Given the description of an element on the screen output the (x, y) to click on. 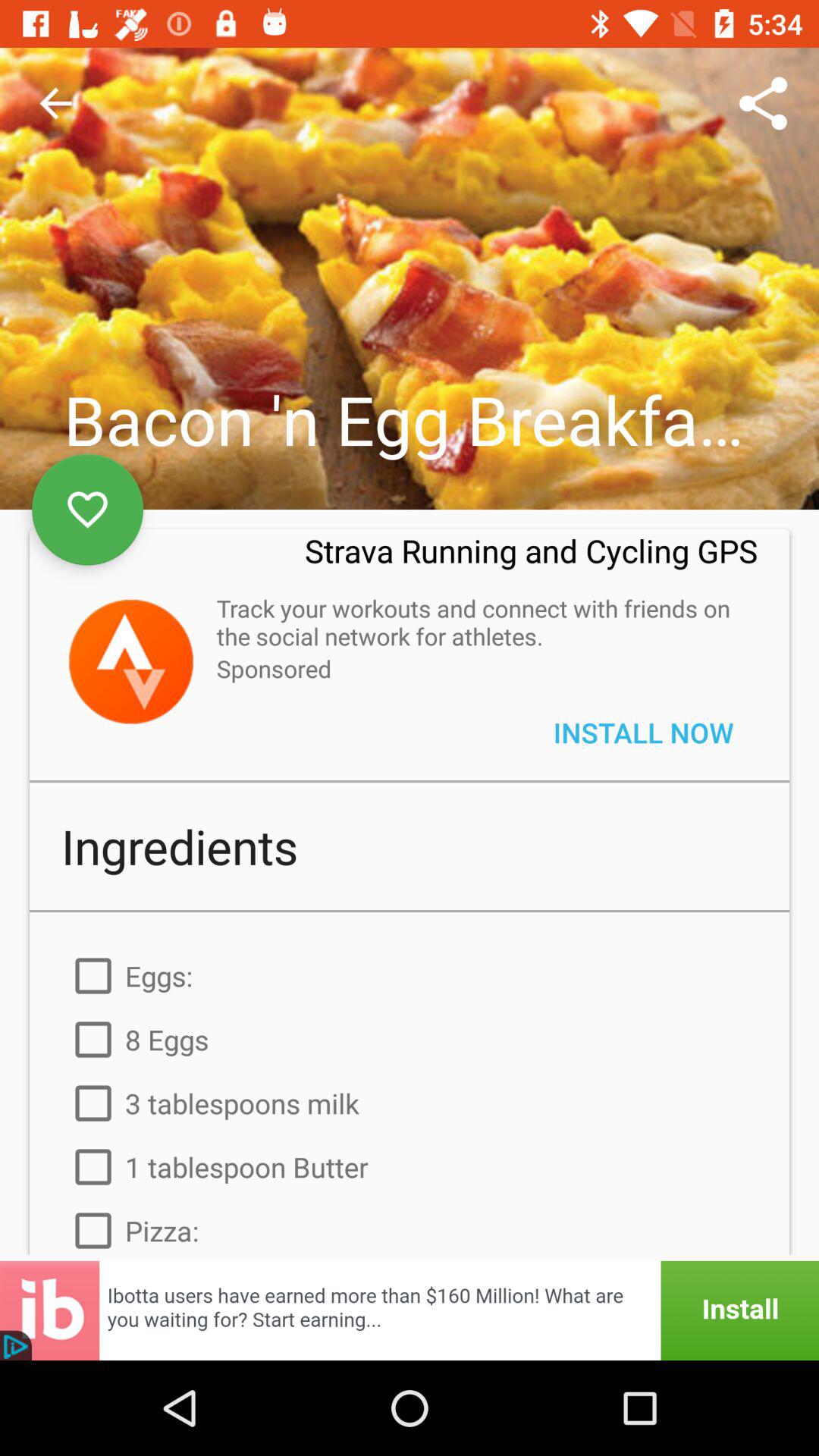
select the 8 eggs icon (409, 1039)
